Given the description of an element on the screen output the (x, y) to click on. 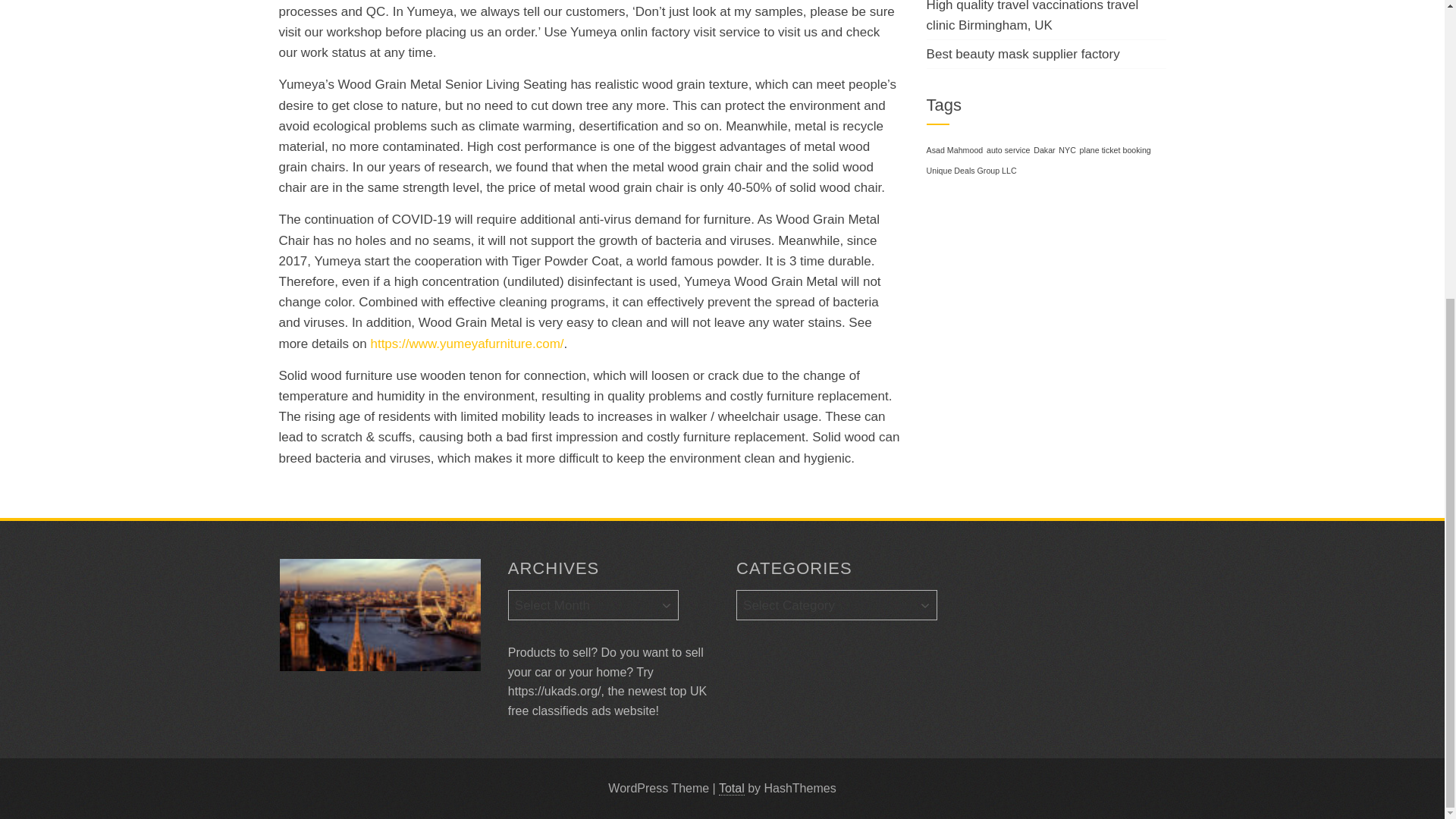
Dakar (1043, 149)
Unique Deals Group LLC (971, 170)
auto service (1008, 149)
Asad Mahmood (955, 149)
NYC (1066, 149)
plane ticket booking (1115, 149)
Total (731, 788)
Best beauty mask supplier factory (1022, 53)
